Given the description of an element on the screen output the (x, y) to click on. 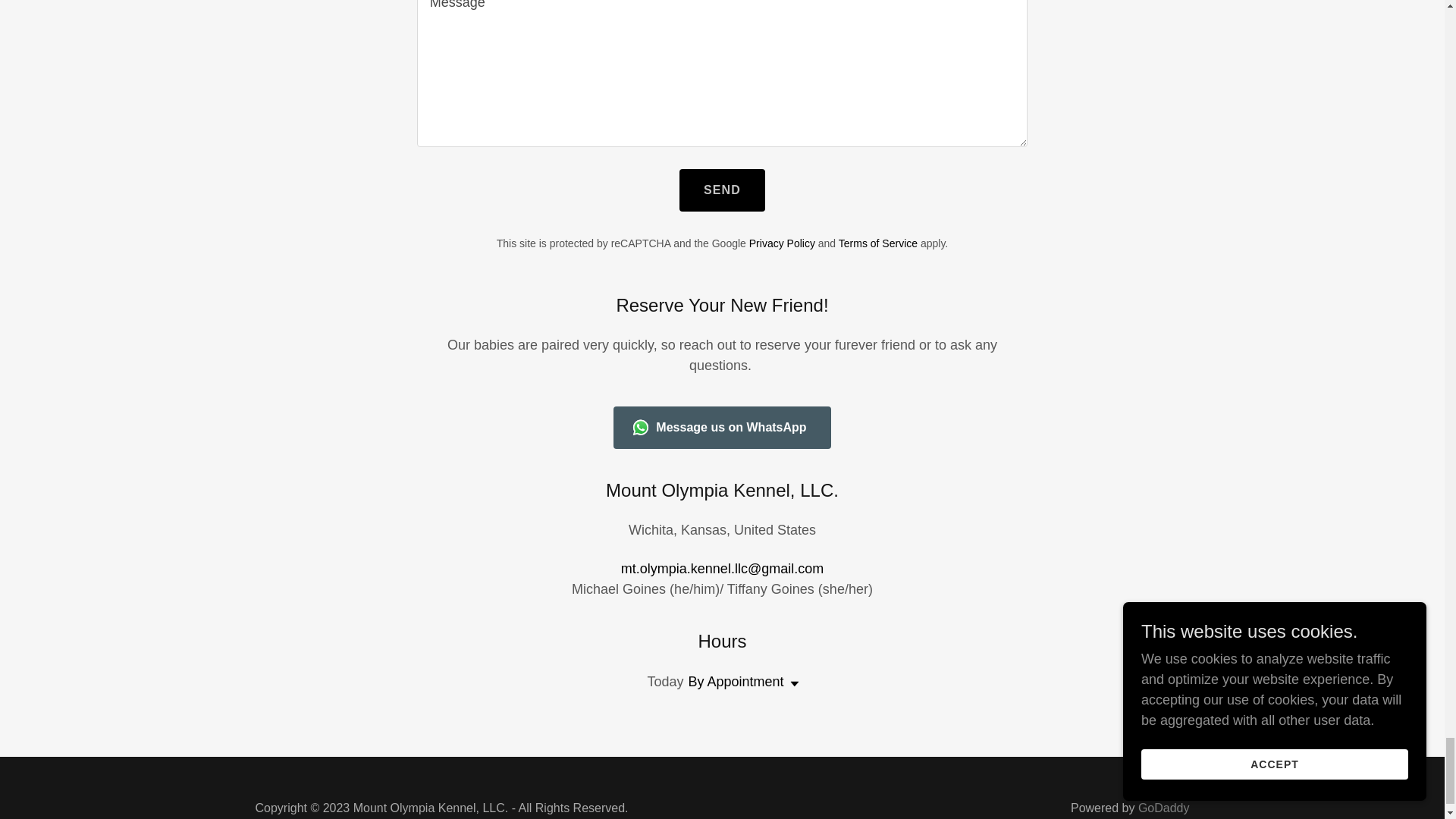
Privacy Policy (782, 243)
GoDaddy (1163, 807)
Message us on WhatsApp (720, 427)
SEND (722, 189)
Terms of Service (877, 243)
